Given the description of an element on the screen output the (x, y) to click on. 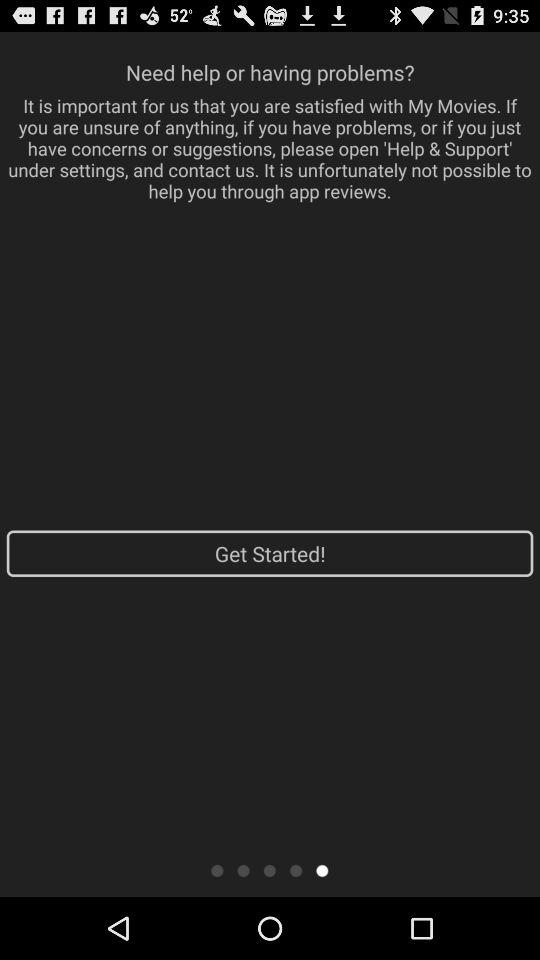
last screen (321, 870)
